Given the description of an element on the screen output the (x, y) to click on. 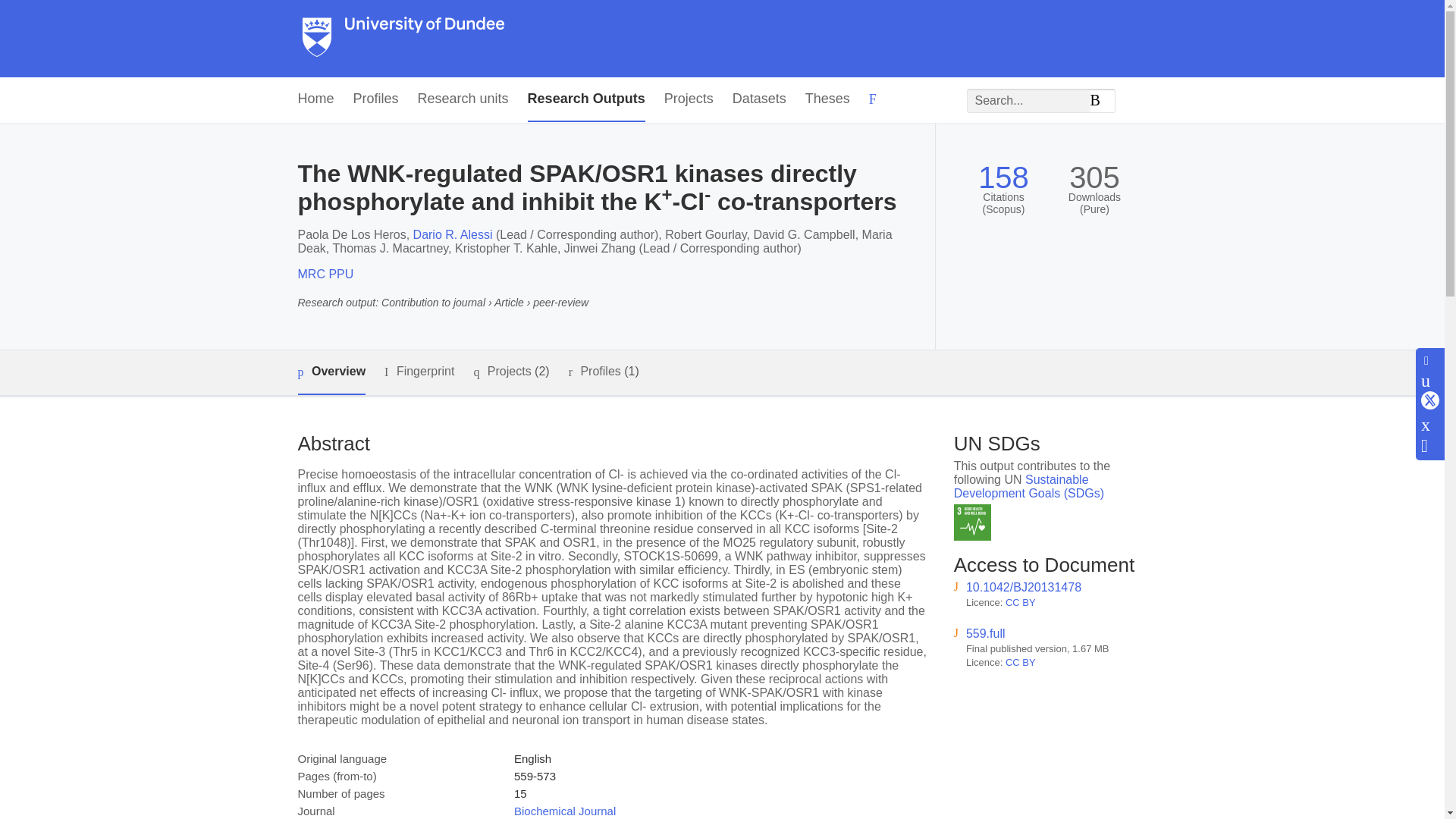
Overview (331, 372)
Research units (462, 99)
Dario R. Alessi (453, 234)
Theses (827, 99)
MRC PPU (325, 273)
CC BY (1020, 662)
CC BY (1020, 602)
Datasets (759, 99)
Research Outputs (586, 99)
158 (1003, 177)
Biochemical Journal (564, 810)
Projects (688, 99)
559.full (986, 633)
Discovery - the University of Dundee Research Portal Home (404, 38)
